Given the description of an element on the screen output the (x, y) to click on. 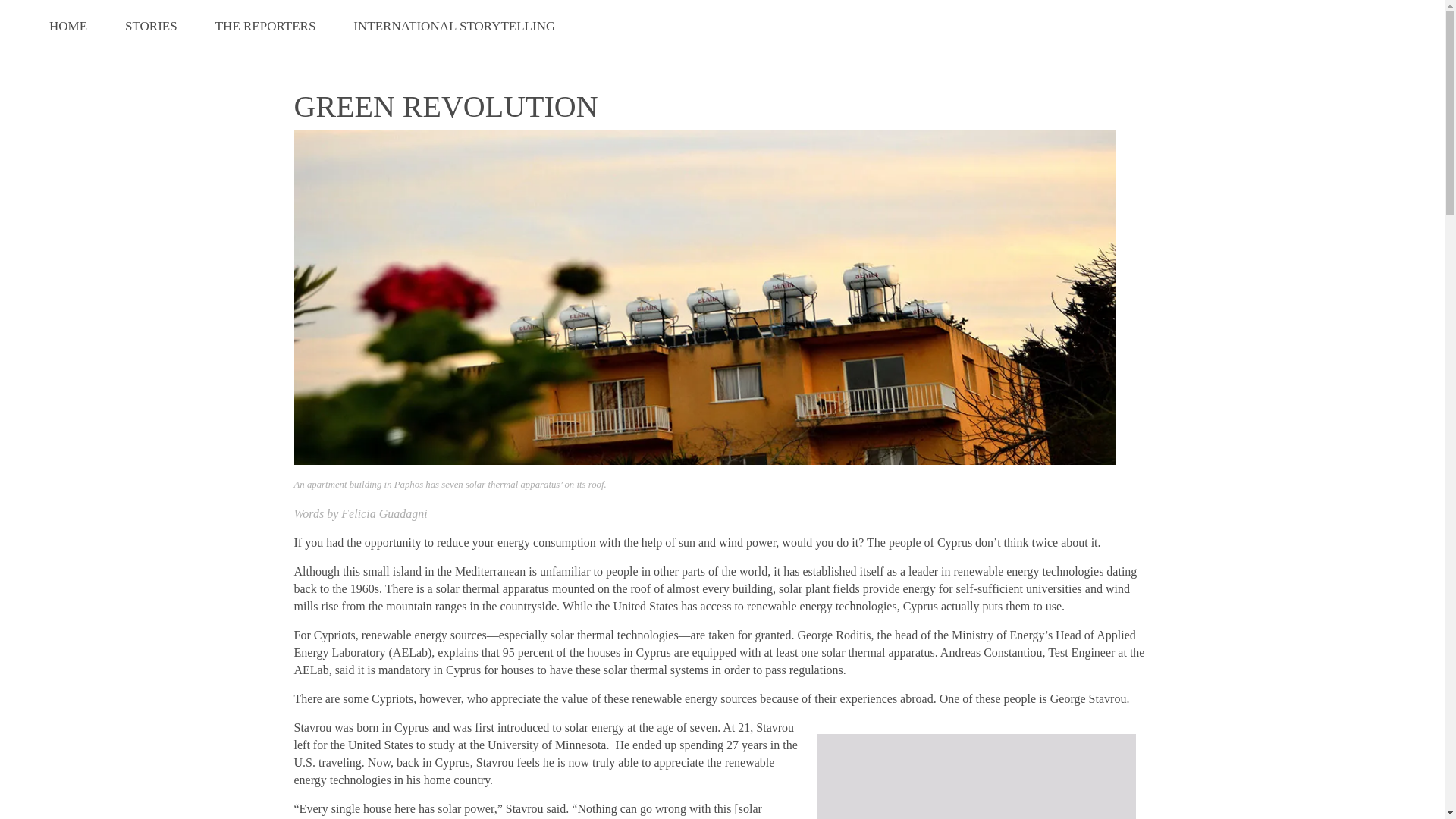
HOME (68, 26)
STORIES (151, 26)
INTERNATIONAL STORYTELLING (453, 26)
THE REPORTERS (265, 26)
Felicia Guadagni (383, 513)
